Given the description of an element on the screen output the (x, y) to click on. 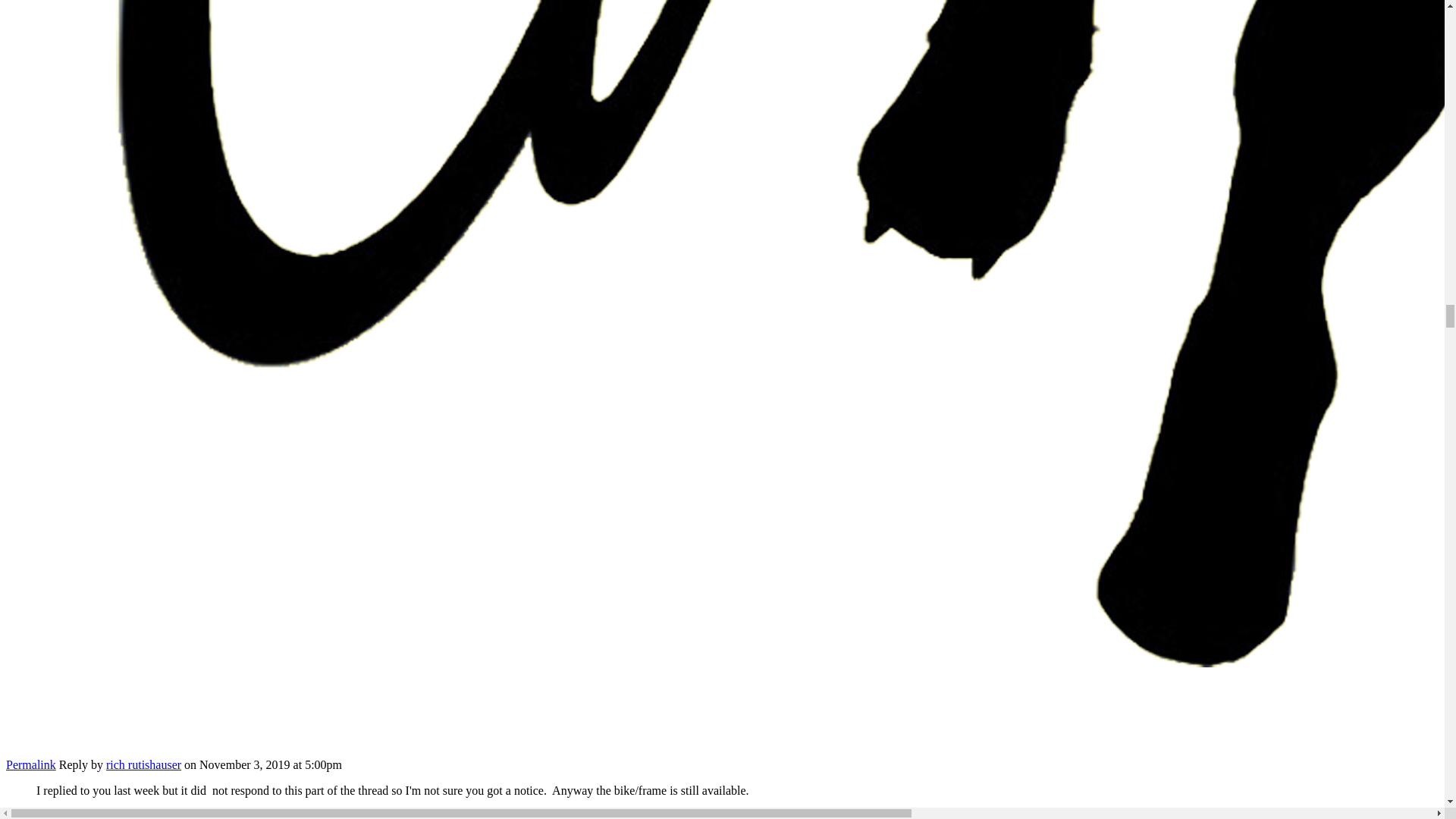
Permalink to this Reply (30, 764)
